Given the description of an element on the screen output the (x, y) to click on. 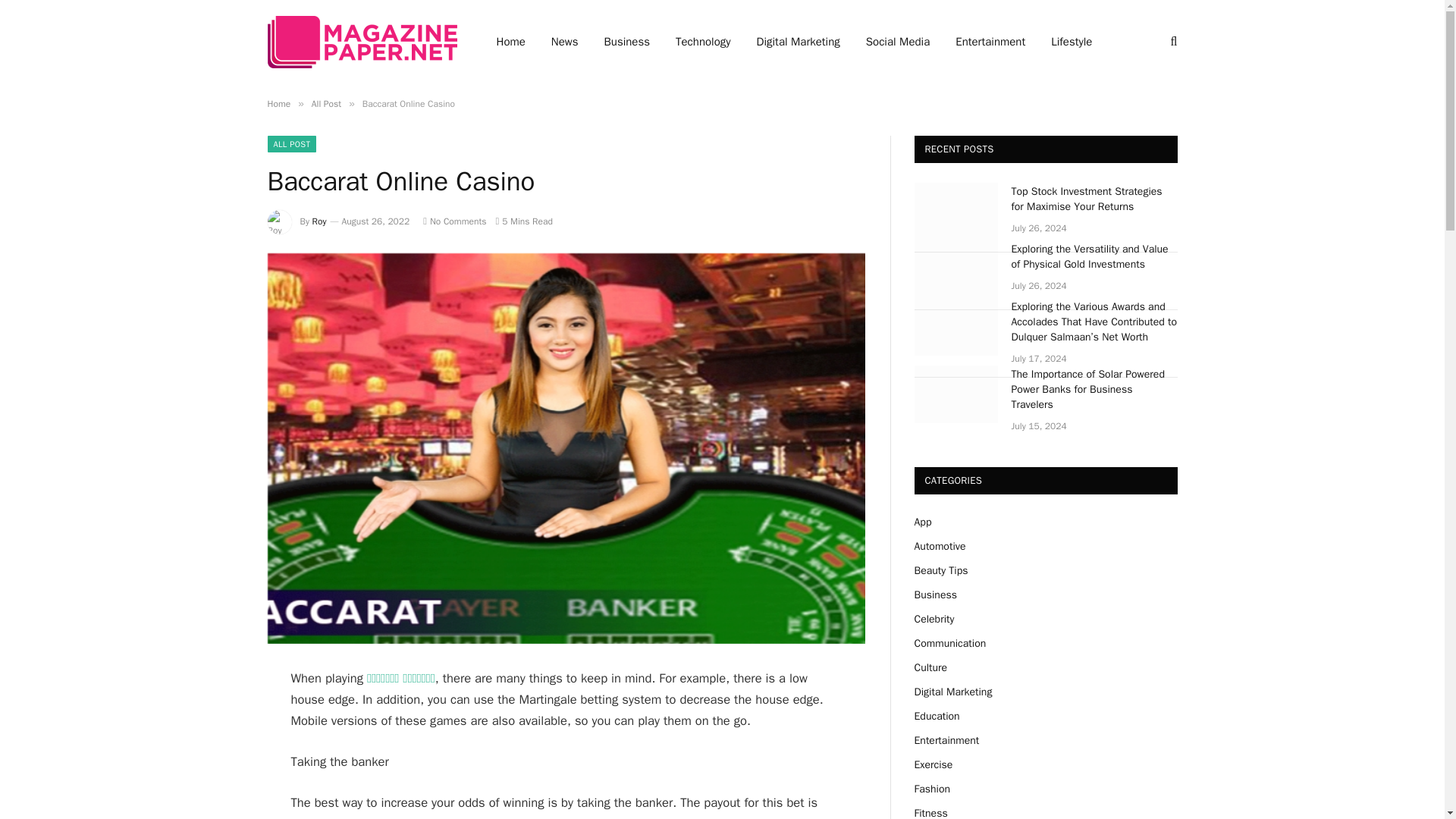
ALL POST (290, 143)
Top Stock Investment Strategies for Maximise Your Returns (955, 211)
Home (277, 103)
Social Media (897, 41)
No Comments (454, 221)
Roy (319, 221)
Magazinepaper.net (361, 41)
All Post (325, 103)
Top Stock Investment Strategies for Maximise Your Returns (1094, 199)
Entertainment (990, 41)
Posts by Roy (319, 221)
Technology (703, 41)
Digital Marketing (798, 41)
